Given the description of an element on the screen output the (x, y) to click on. 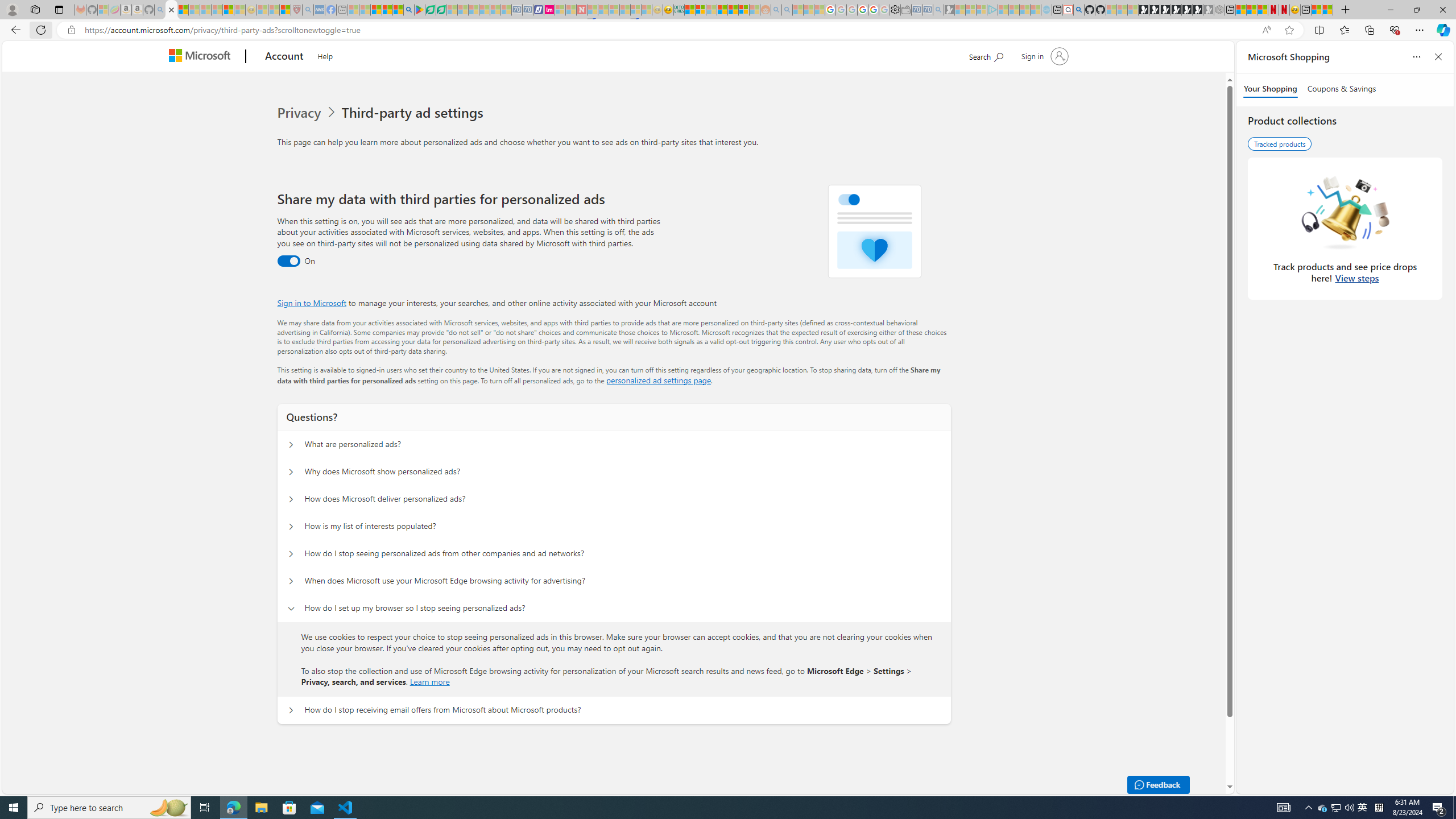
Questions? Why does Microsoft show personalized ads? (290, 472)
github - Search (1078, 9)
